Given the description of an element on the screen output the (x, y) to click on. 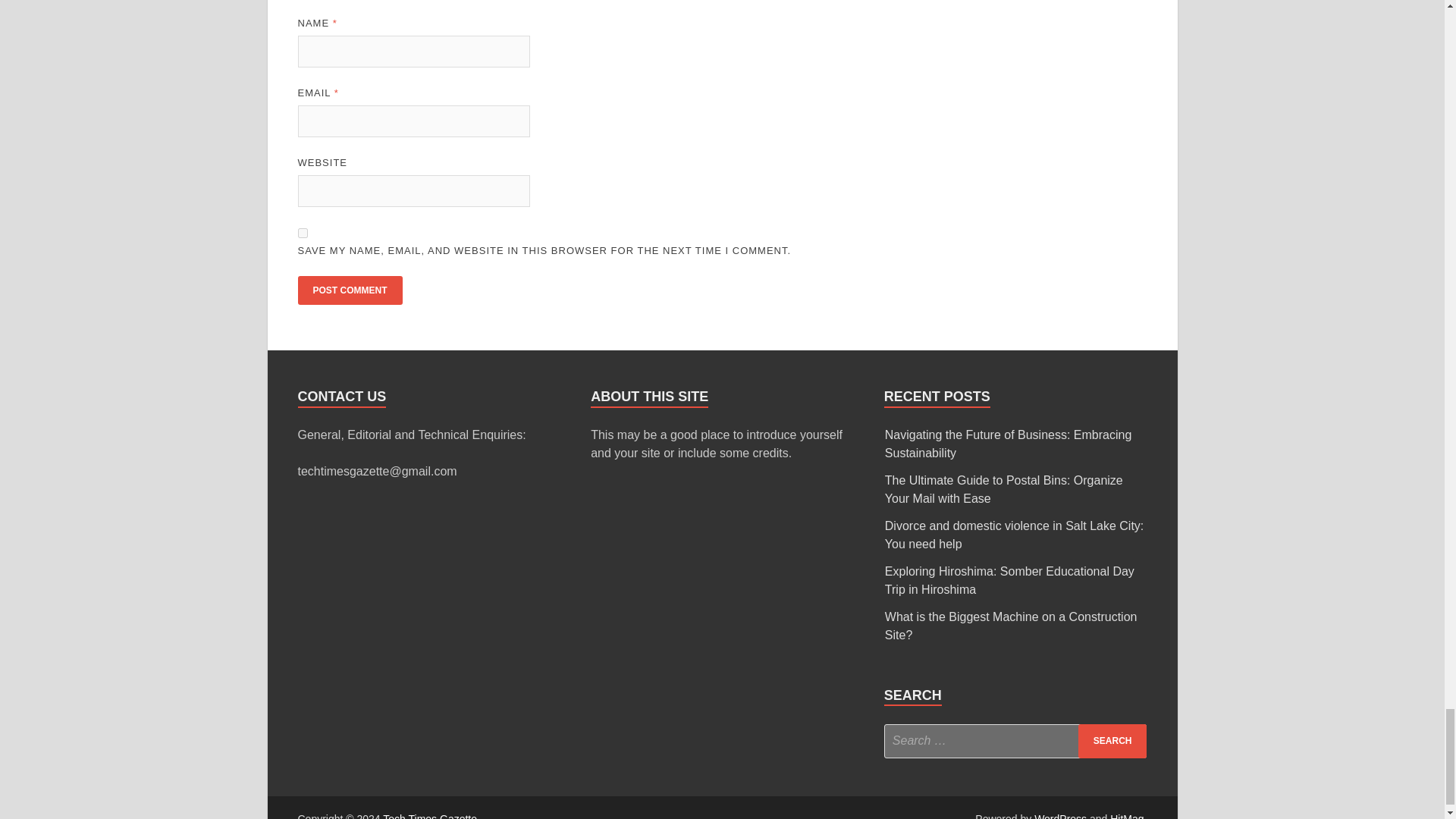
Search (1112, 740)
Search (1112, 740)
yes (302, 233)
Post Comment (349, 290)
